Given the description of an element on the screen output the (x, y) to click on. 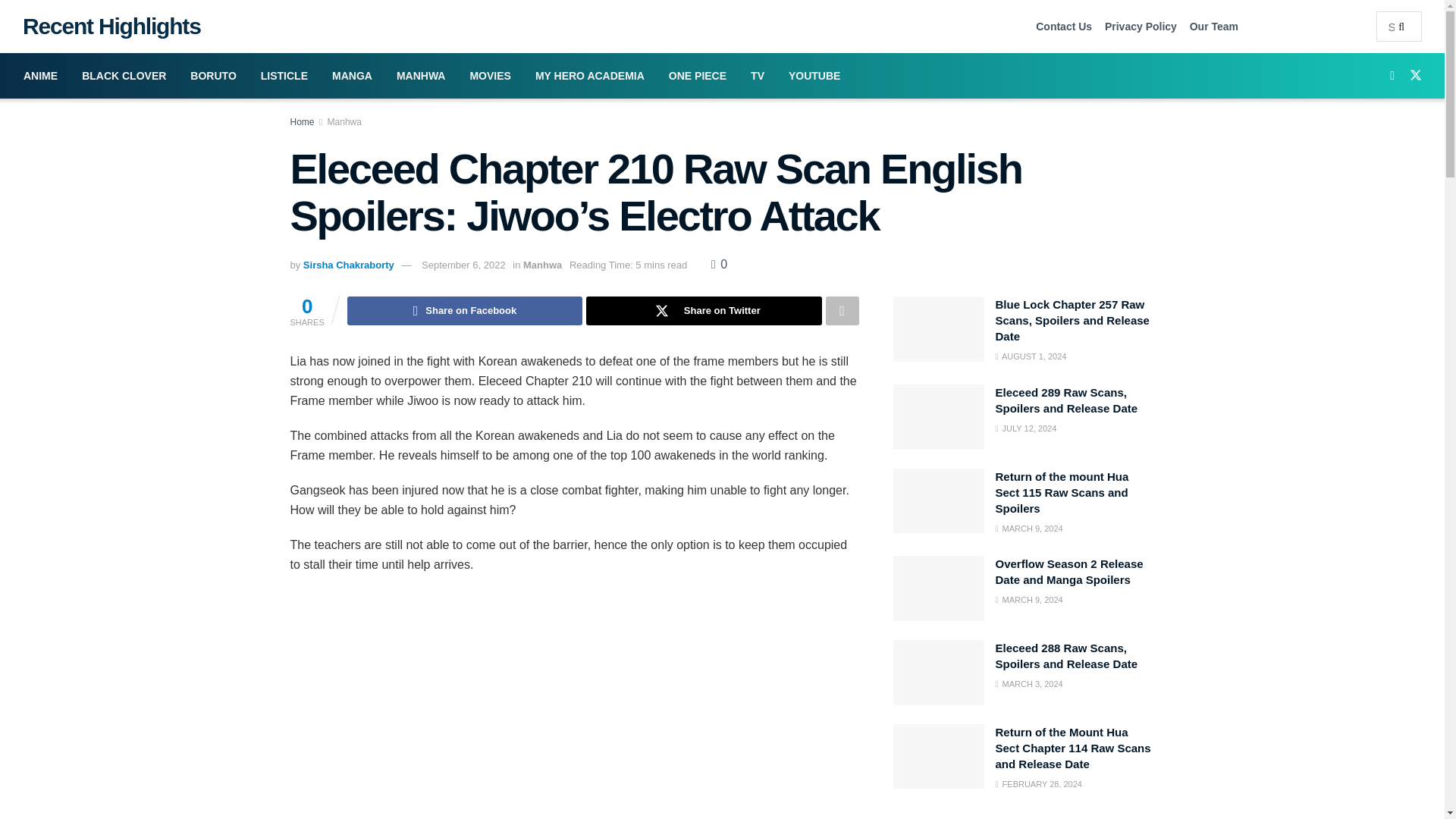
Recent Highlights (105, 26)
Our Team (1214, 26)
YOUTUBE (813, 75)
ONE PIECE (697, 75)
ANIME (40, 75)
MY HERO ACADEMIA (589, 75)
LISTICLE (284, 75)
Contact Us (1063, 26)
MOVIES (489, 75)
BLACK CLOVER (123, 75)
